Given the description of an element on the screen output the (x, y) to click on. 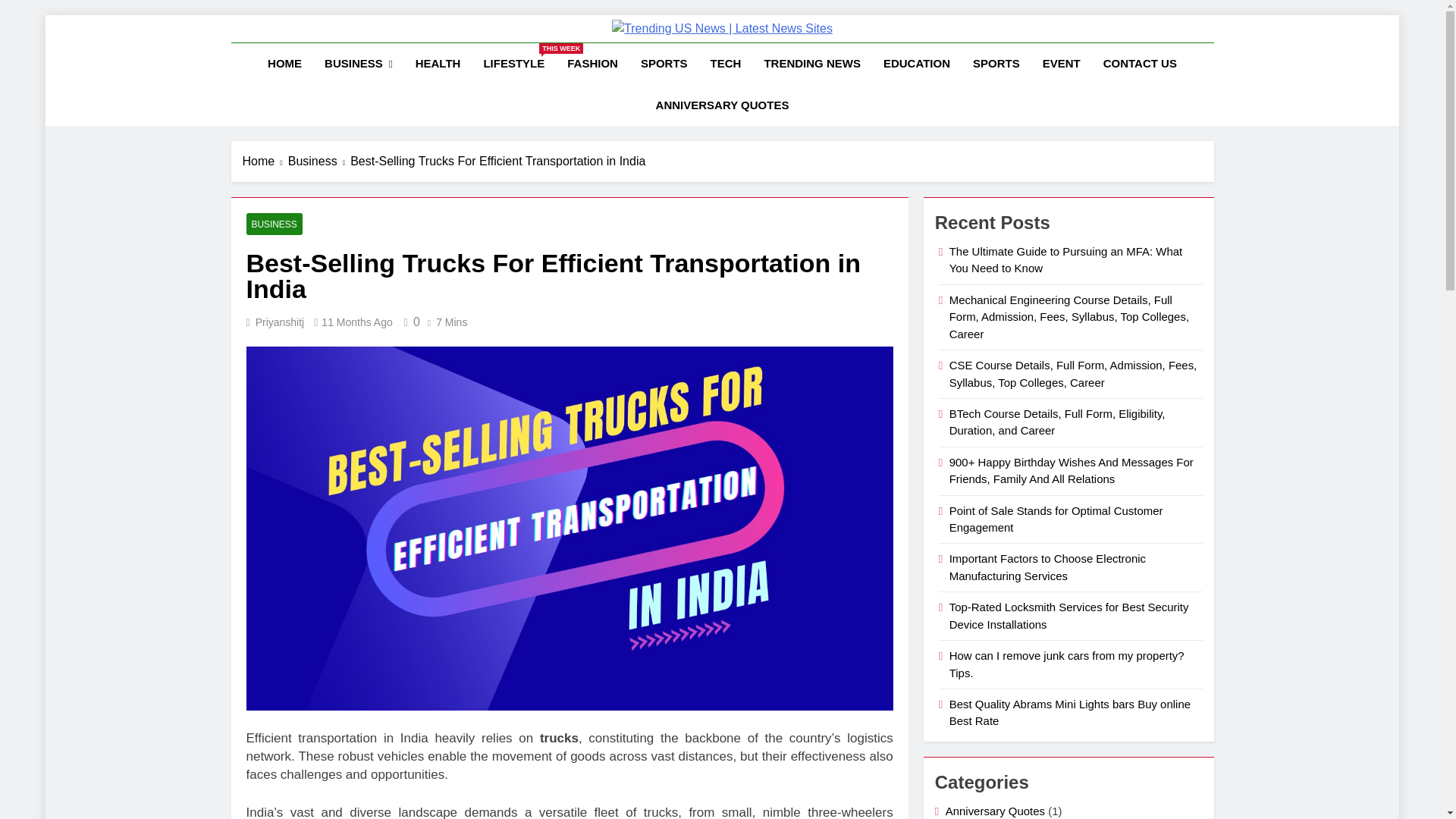
CONTACT US (1140, 63)
BUSINESS (513, 63)
11 Months Ago (273, 223)
SPORTS (356, 322)
SPORTS (995, 63)
Priyanshitj (663, 63)
Best-Selling Trucks For Efficient Transportation in India 1 (280, 322)
Home (358, 64)
TECH (265, 161)
Business (725, 63)
TRENDING NEWS (319, 161)
0 (812, 63)
ANNIVERSARY QUOTES (409, 321)
